Given the description of an element on the screen output the (x, y) to click on. 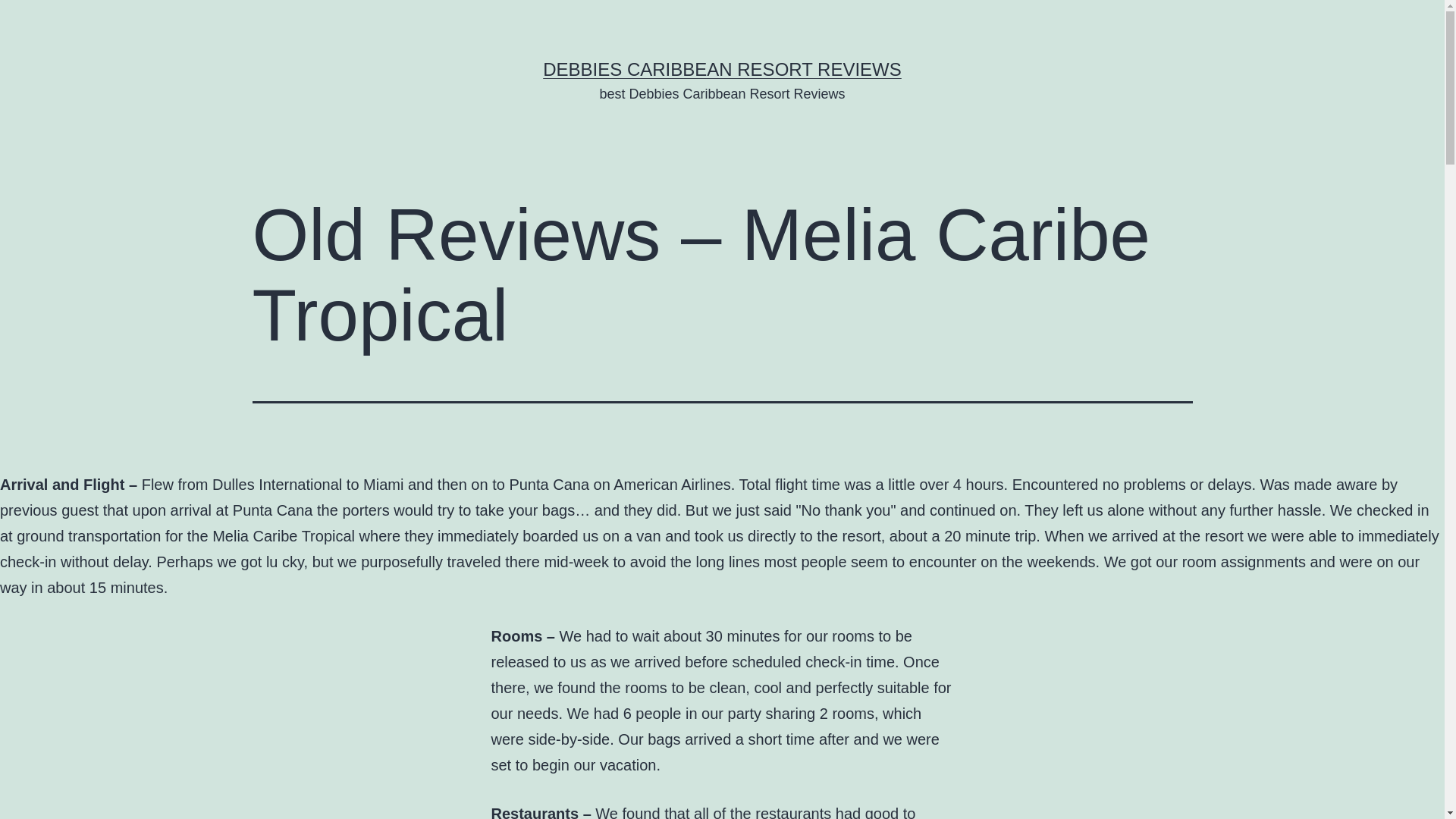
DEBBIES CARIBBEAN RESORT REVIEWS (722, 68)
